Given the description of an element on the screen output the (x, y) to click on. 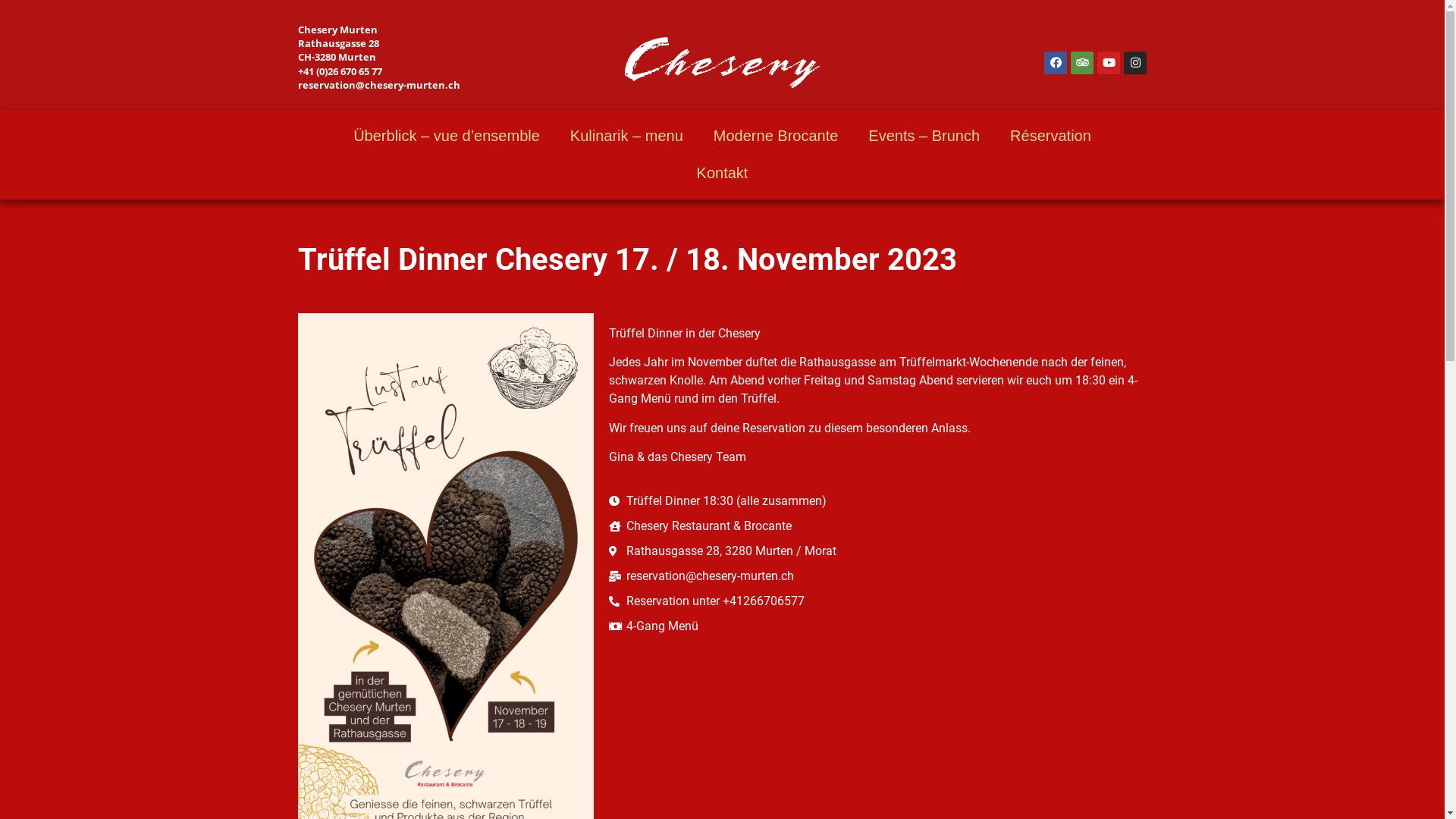
reservation@chesery-murten.ch Element type: text (877, 576)
reservation@chesery-murten.ch Element type: text (378, 84)
Moderne Brocante Element type: text (775, 135)
+41 (0)26 670 65 77 Element type: text (339, 71)
Chesery Restaurant & Brocante Element type: text (877, 526)
Rathausgasse 28, 3280 Murten / Morat Element type: text (877, 551)
Kontakt Element type: text (722, 172)
Reservation unter +41266706577 Element type: text (877, 601)
